Given the description of an element on the screen output the (x, y) to click on. 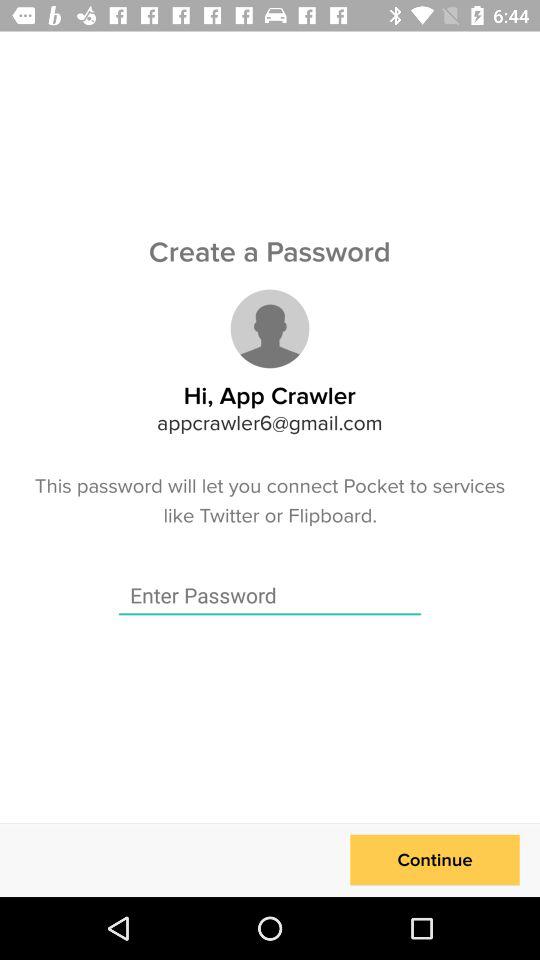
click icon at the bottom right corner (434, 859)
